Given the description of an element on the screen output the (x, y) to click on. 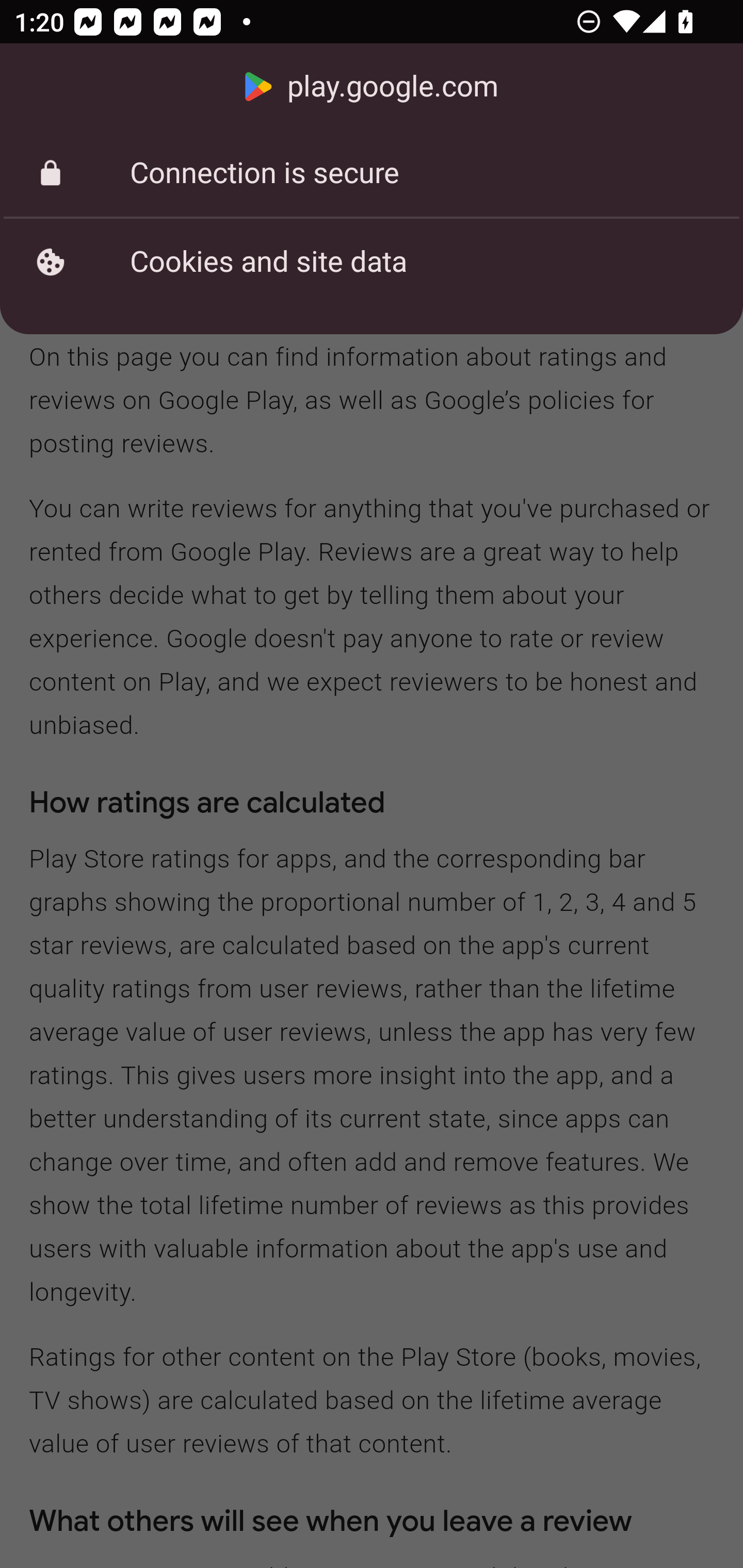
play.google.com (371, 86)
Connection is secure (371, 173)
Cookies and site data (371, 261)
